Given the description of an element on the screen output the (x, y) to click on. 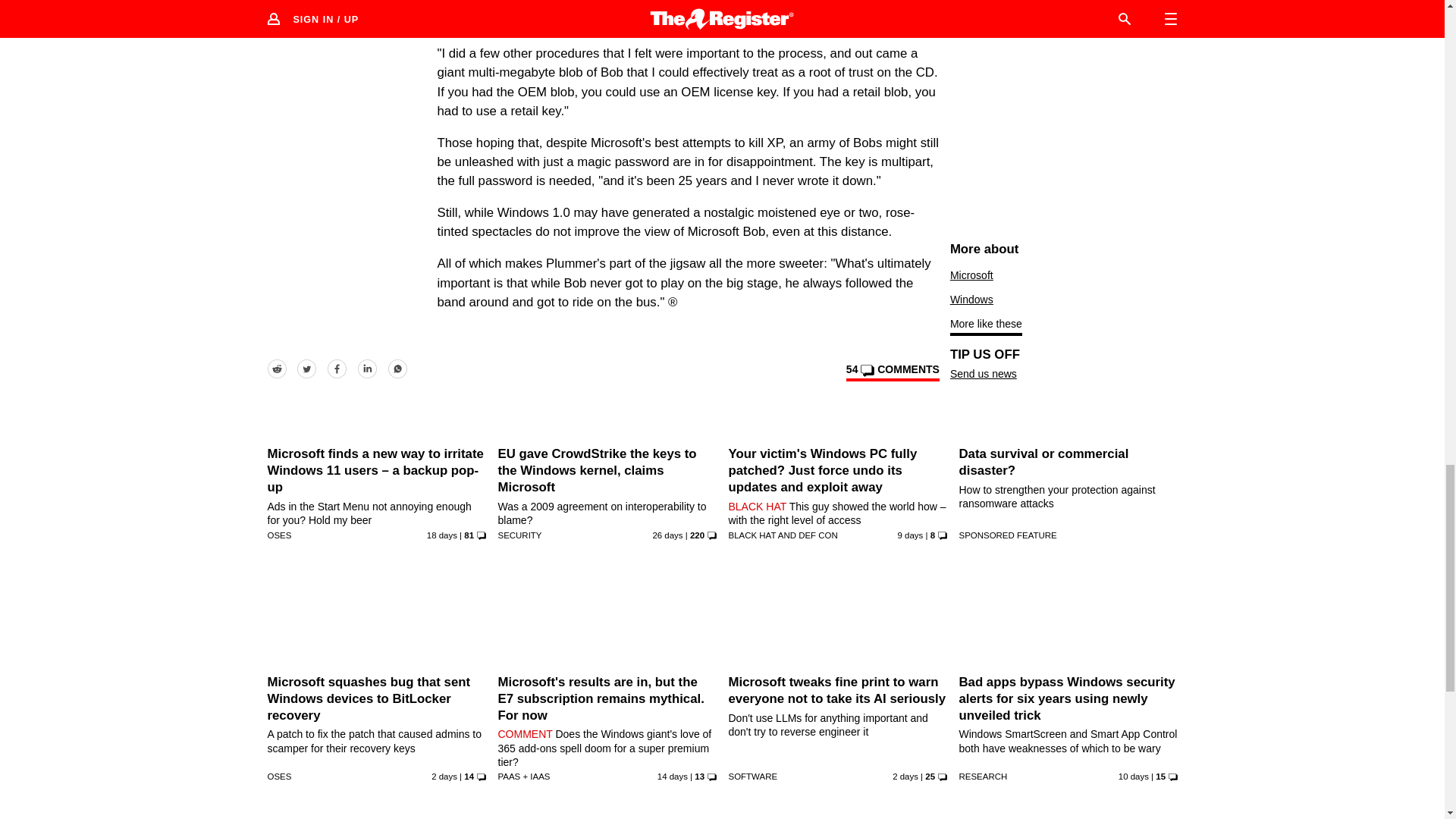
8 Aug 2024 3:34 (910, 534)
22 Jul 2024 13:0 (667, 534)
6 Aug 2024 14:41 (1133, 776)
29 Jul 2024 16:2 (441, 534)
14 Aug 2024 20:28 (905, 776)
14 Aug 2024 14:45 (443, 776)
2 Aug 2024 18:11 (672, 776)
View comments on this article (892, 371)
